Given the description of an element on the screen output the (x, y) to click on. 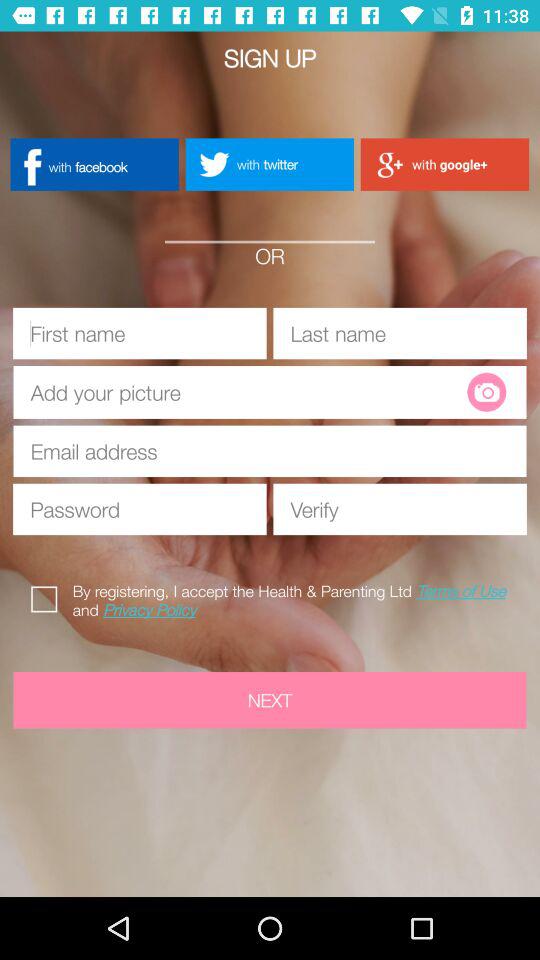
choose button next to the with facebook icon (269, 164)
